Given the description of an element on the screen output the (x, y) to click on. 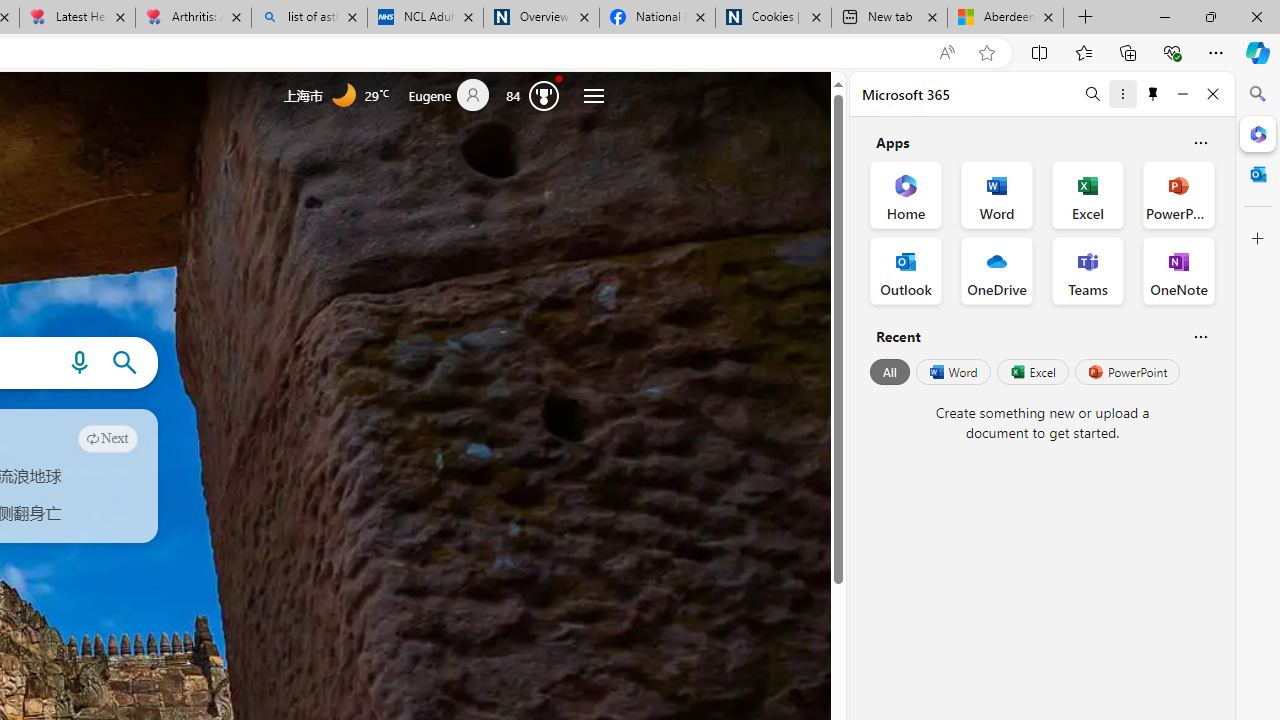
Animation (559, 78)
Excel (1031, 372)
Home Office App (906, 194)
Search using voice (79, 363)
